Given the description of an element on the screen output the (x, y) to click on. 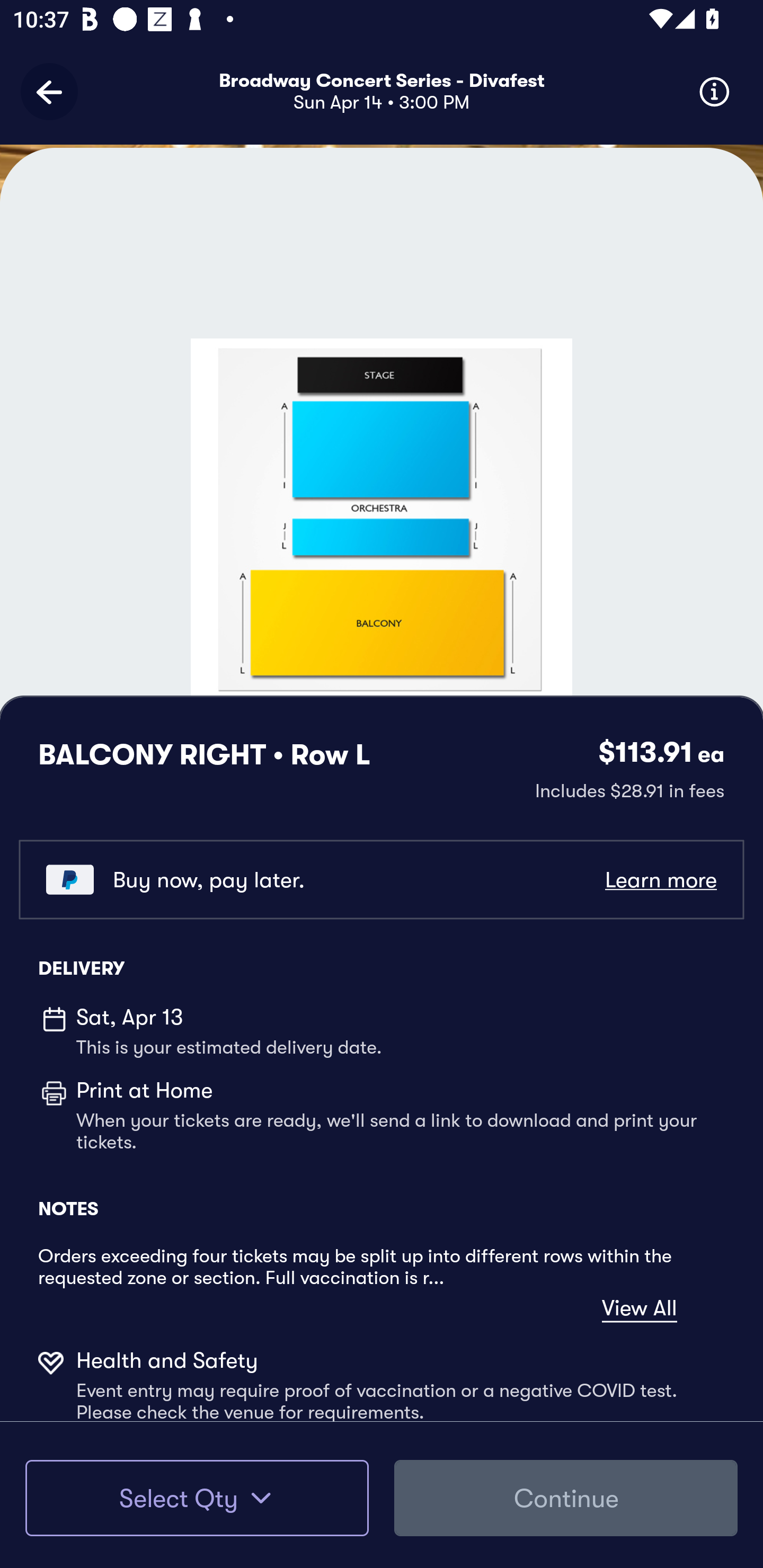
Learn more (660, 880)
View All (639, 1308)
Select Qty (196, 1497)
Continue (565, 1497)
